Given the description of an element on the screen output the (x, y) to click on. 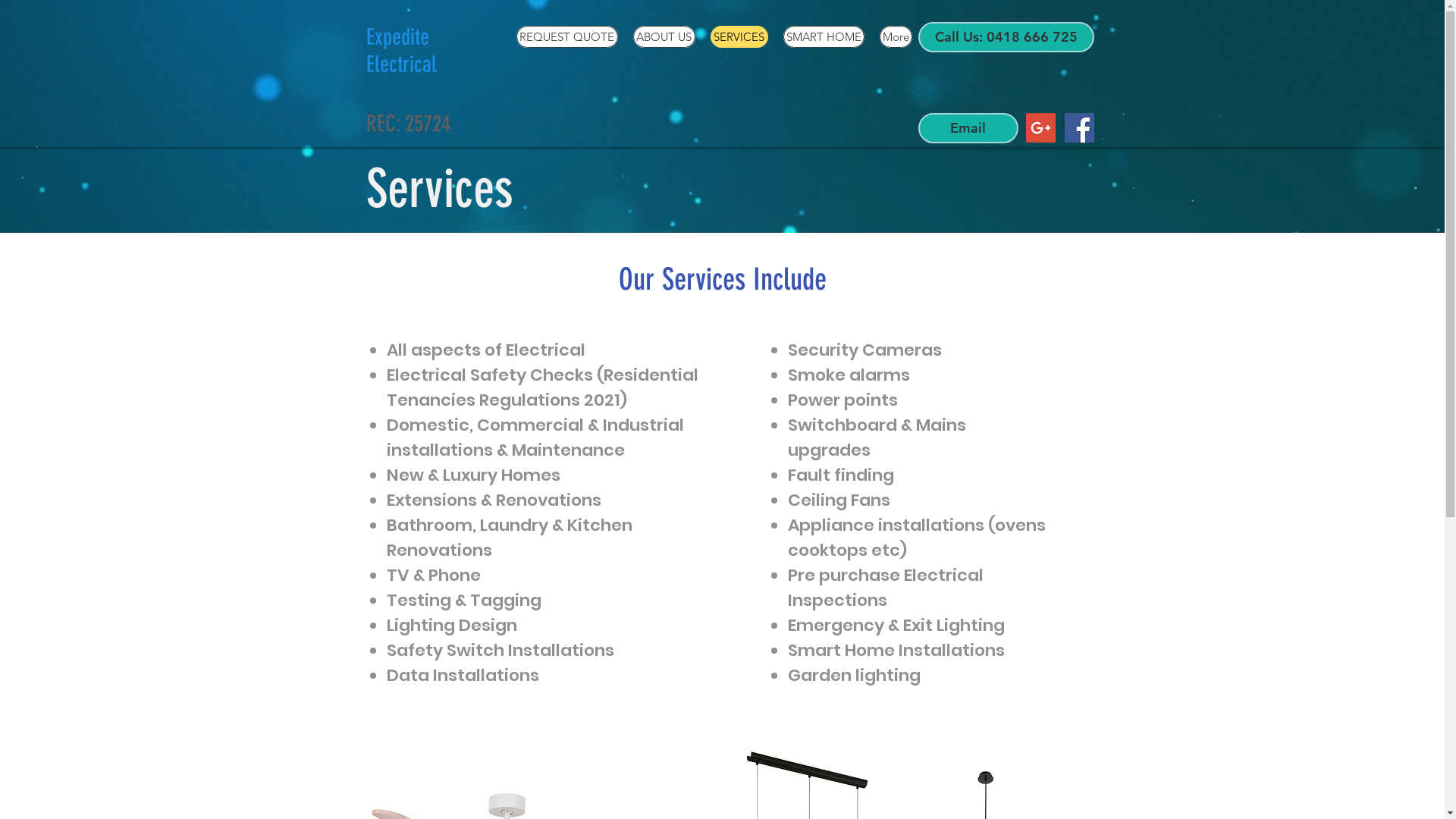
Call Us: 0418 666 725 Element type: text (1005, 36)
REQUEST QUOTE Element type: text (566, 36)
SMART HOME Element type: text (822, 36)
Expedite Electrical Element type: text (400, 50)
SERVICES Element type: text (738, 36)
ABOUT US Element type: text (663, 36)
Email Element type: text (967, 127)
